Given the description of an element on the screen output the (x, y) to click on. 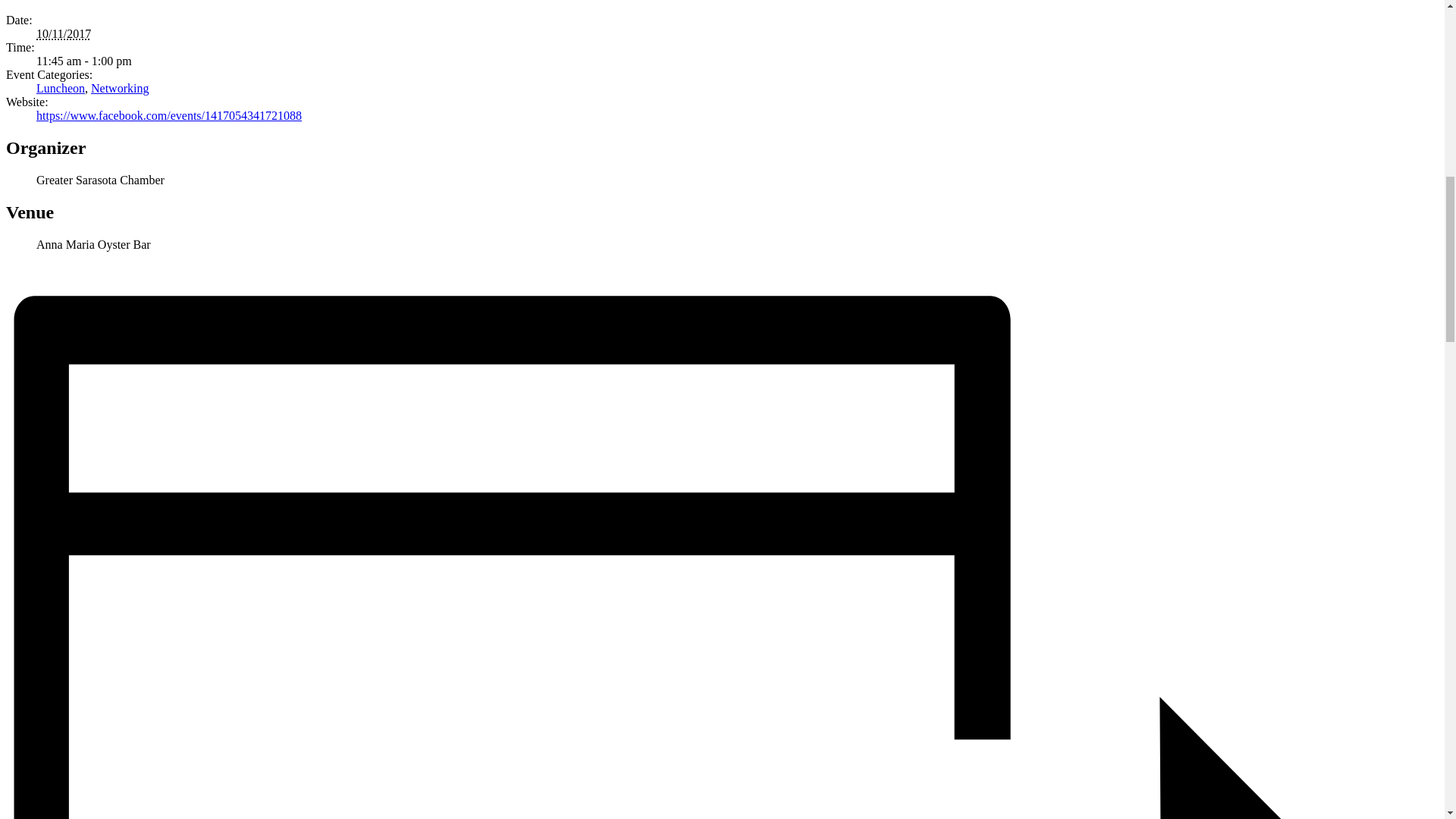
2017-10-11 (63, 33)
Luncheon (60, 88)
Networking (119, 88)
